Given the description of an element on the screen output the (x, y) to click on. 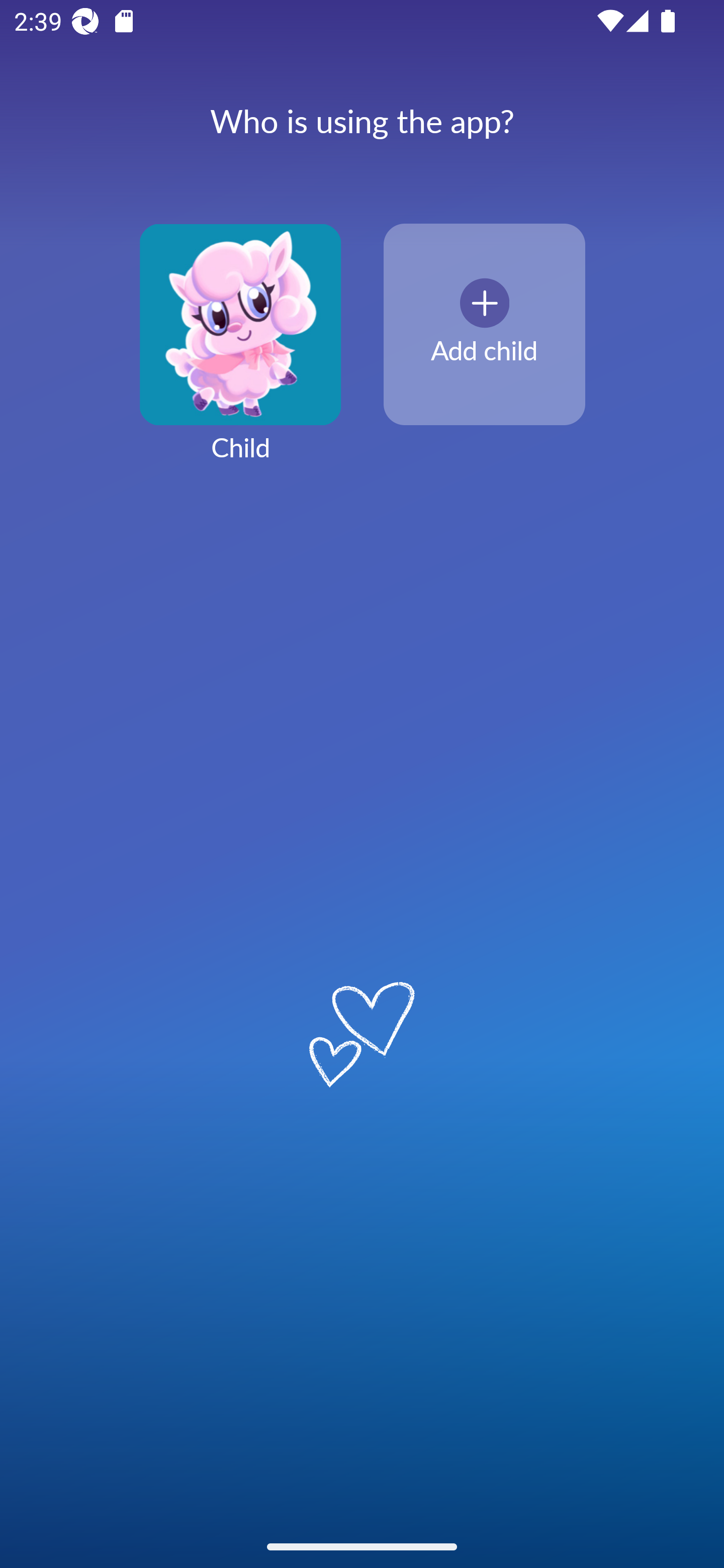
Child (240, 354)
Add child (483, 324)
